Given the description of an element on the screen output the (x, y) to click on. 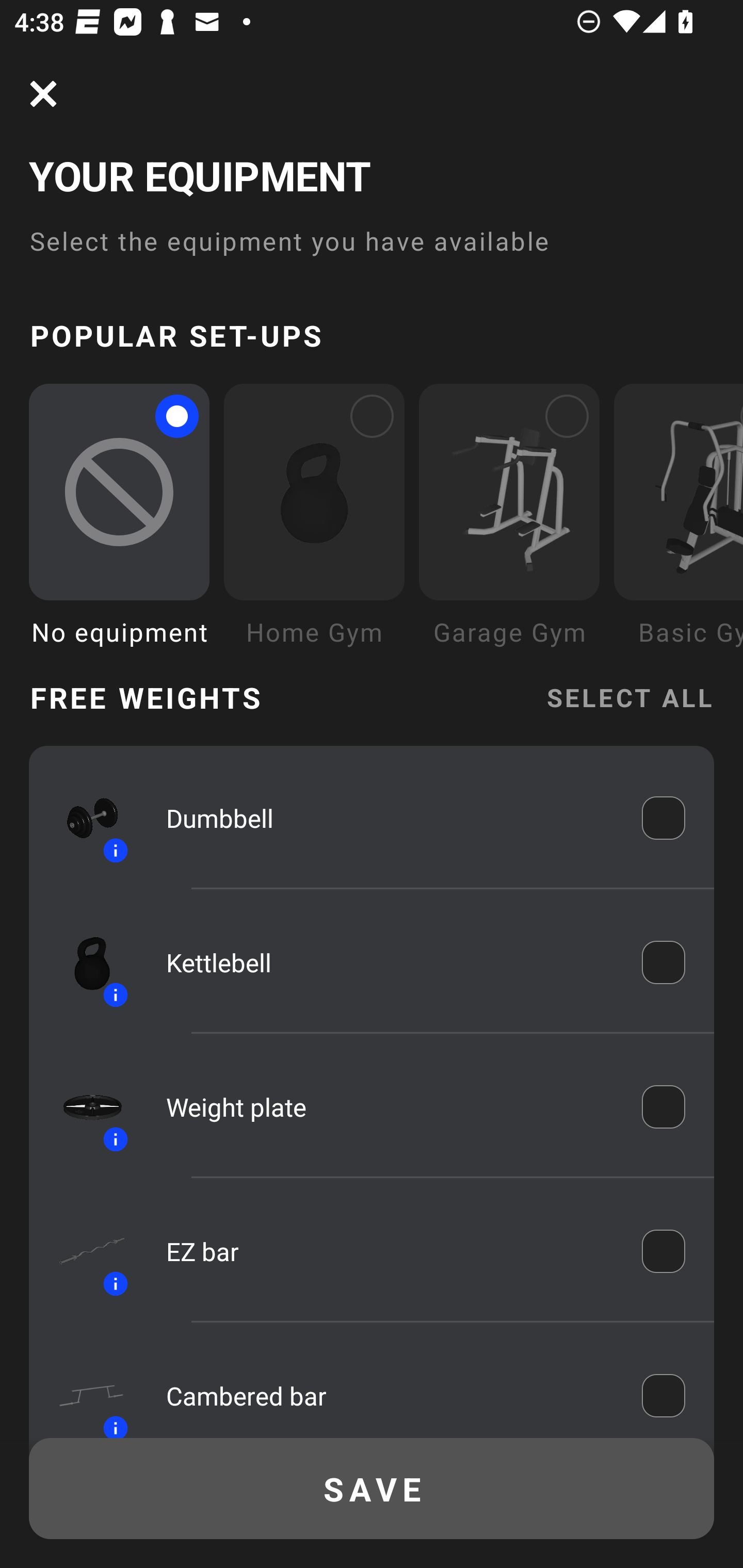
Navigation icon (43, 93)
SELECT ALL (629, 696)
Equipment icon Information icon (82, 817)
Dumbbell (389, 817)
Equipment icon Information icon (82, 961)
Kettlebell (389, 961)
Equipment icon Information icon (82, 1106)
Weight plate (389, 1106)
Equipment icon Information icon (82, 1251)
EZ bar (389, 1251)
Equipment icon Information icon (82, 1389)
Cambered bar (389, 1394)
SAVE (371, 1488)
